Given the description of an element on the screen output the (x, y) to click on. 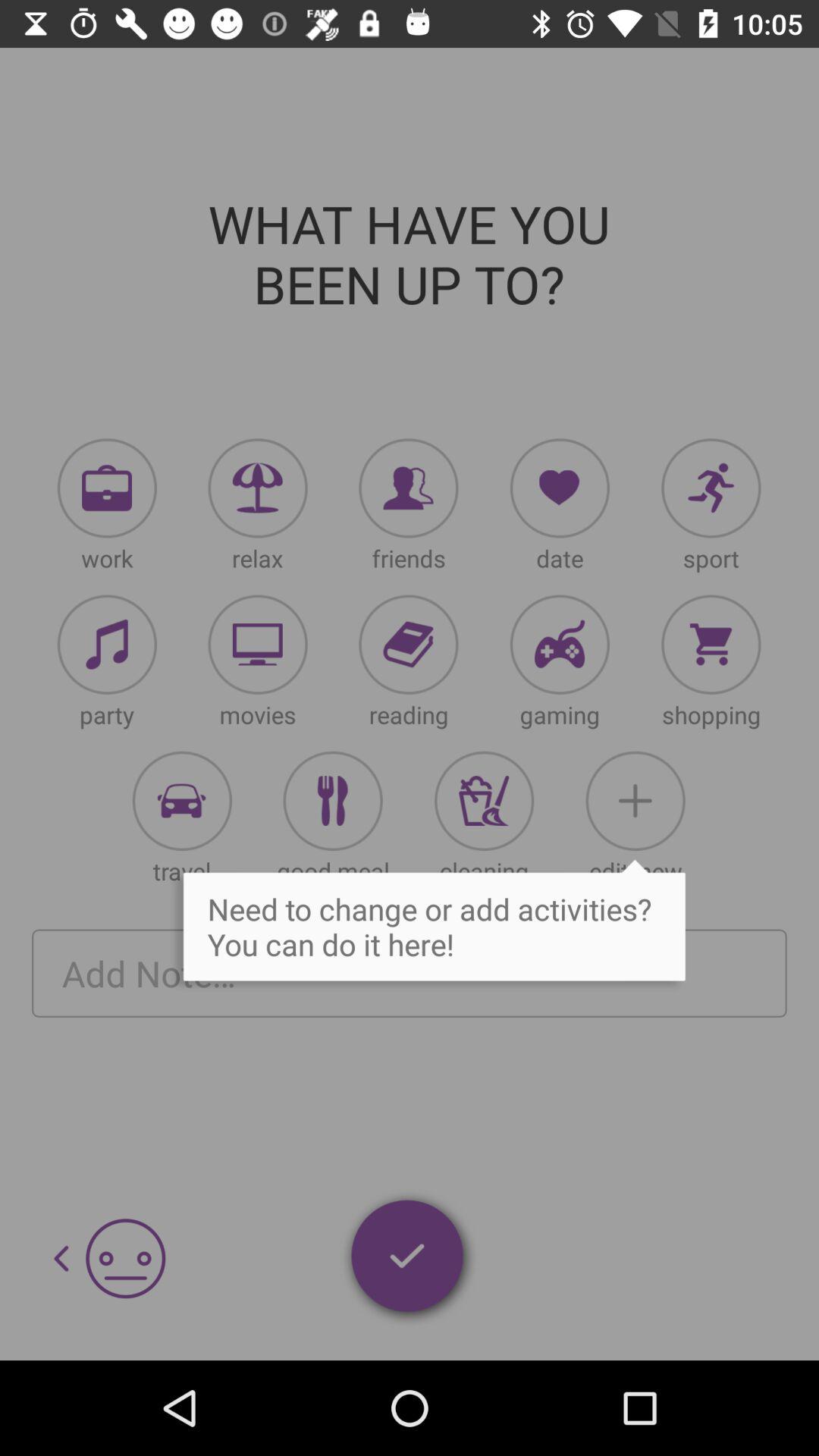
go to food meal (332, 800)
